Given the description of an element on the screen output the (x, y) to click on. 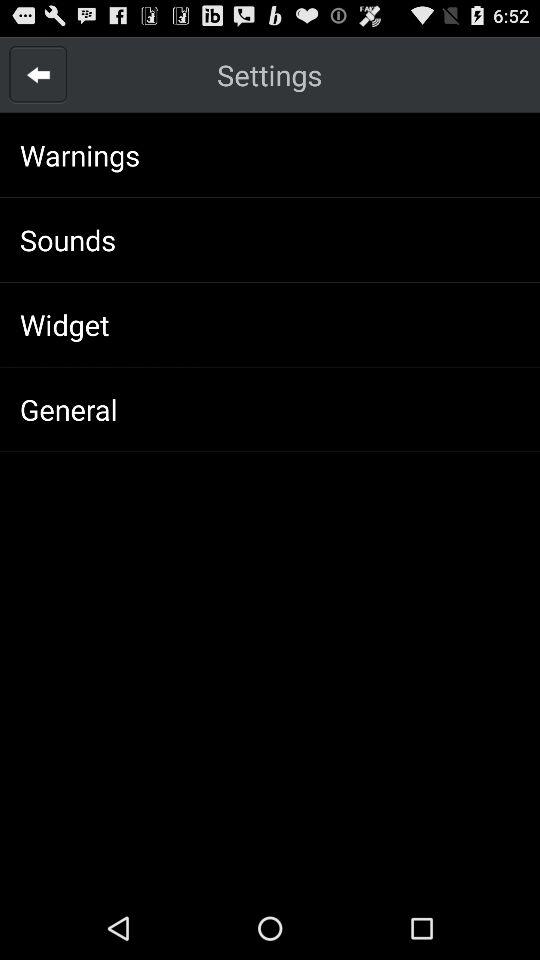
tap icon below the widget icon (68, 409)
